Given the description of an element on the screen output the (x, y) to click on. 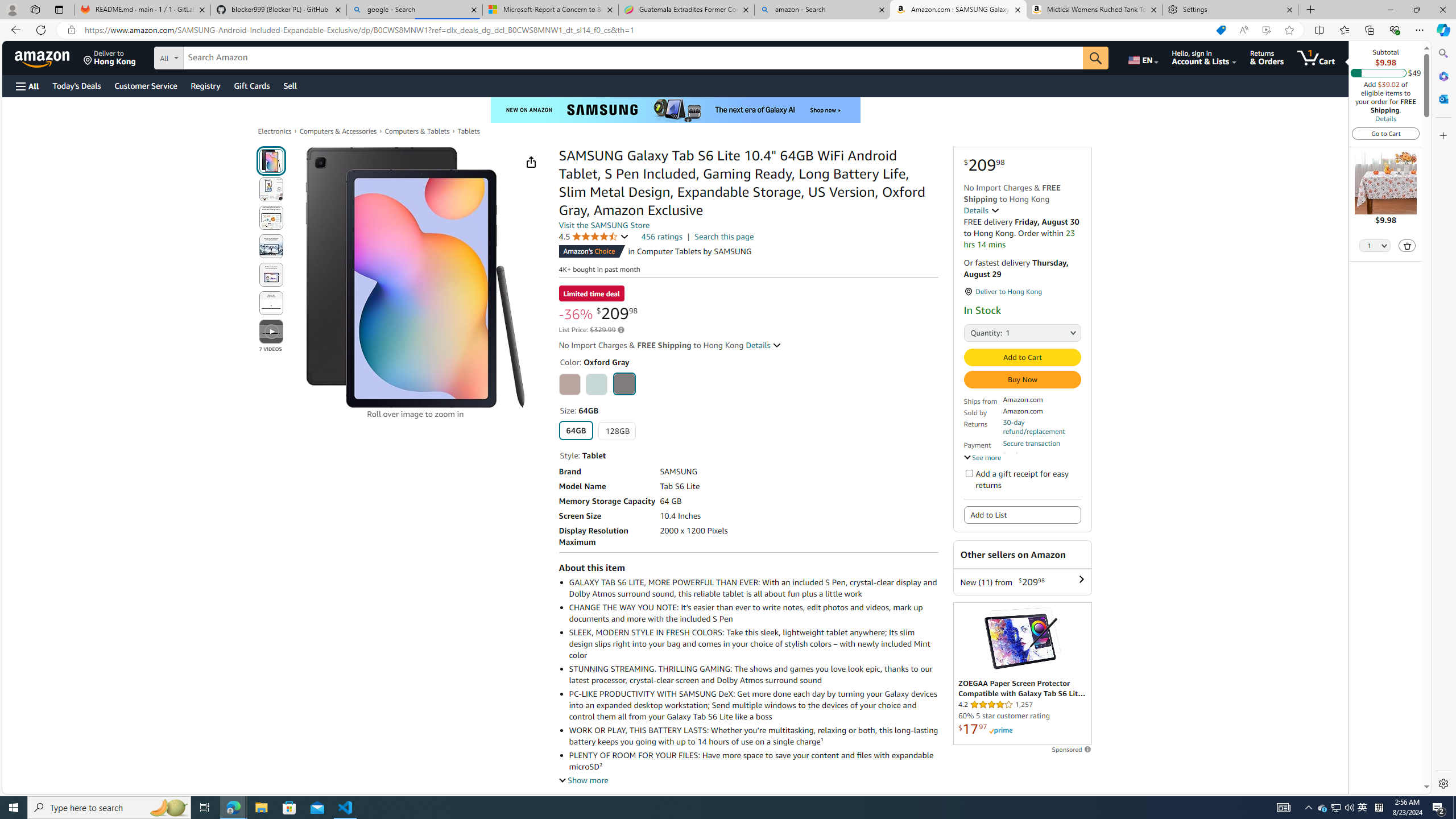
Go (1096, 57)
Skip to main content (48, 56)
Show more (583, 780)
Visit the SAMSUNG Store (604, 225)
Add to Cart (1021, 357)
Prime (1000, 730)
Computers & Tablets (416, 130)
Quantity Selector (1374, 246)
